Given the description of an element on the screen output the (x, y) to click on. 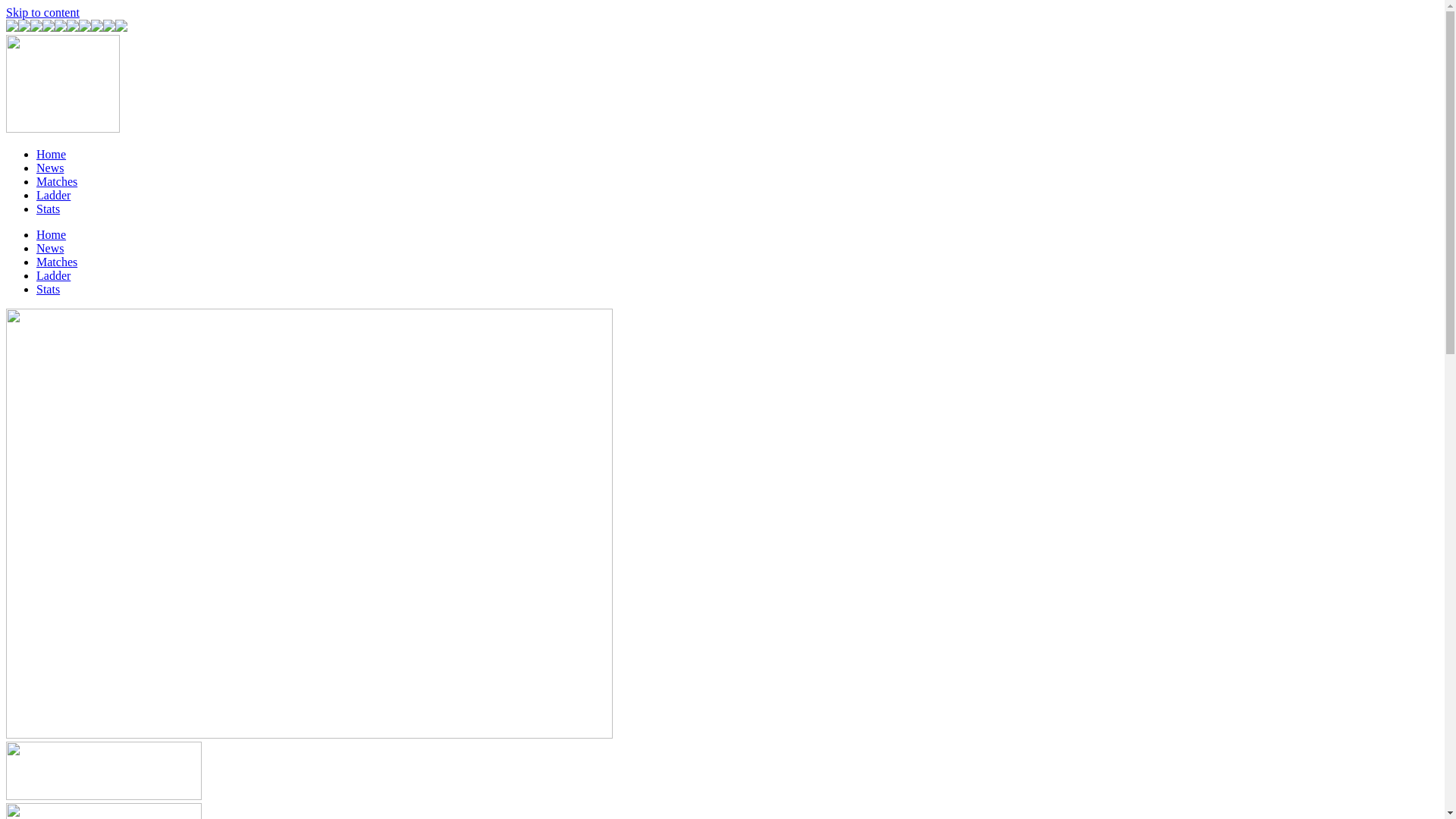
Matches Element type: text (56, 181)
Home Element type: text (50, 153)
Albury Element type: hover (12, 27)
Yarrawonga Element type: hover (121, 27)
Wangaratta Rovers Element type: hover (84, 27)
News Element type: text (49, 247)
Stats Element type: text (47, 288)
Matches Element type: text (56, 261)
Lavington Element type: hover (36, 27)
Myrtleford Element type: hover (48, 27)
Home Element type: text (50, 234)
Wangaratta Element type: hover (72, 27)
News Element type: text (49, 167)
Corowa-Rutherglen Element type: hover (24, 27)
Wodonga Raiders Element type: hover (109, 27)
Ladder Element type: text (53, 275)
Stats Element type: text (47, 208)
North Albury Element type: hover (60, 27)
Ladder Element type: text (53, 194)
Skip to content Element type: text (42, 12)
Wodonga Element type: hover (97, 27)
